Given the description of an element on the screen output the (x, y) to click on. 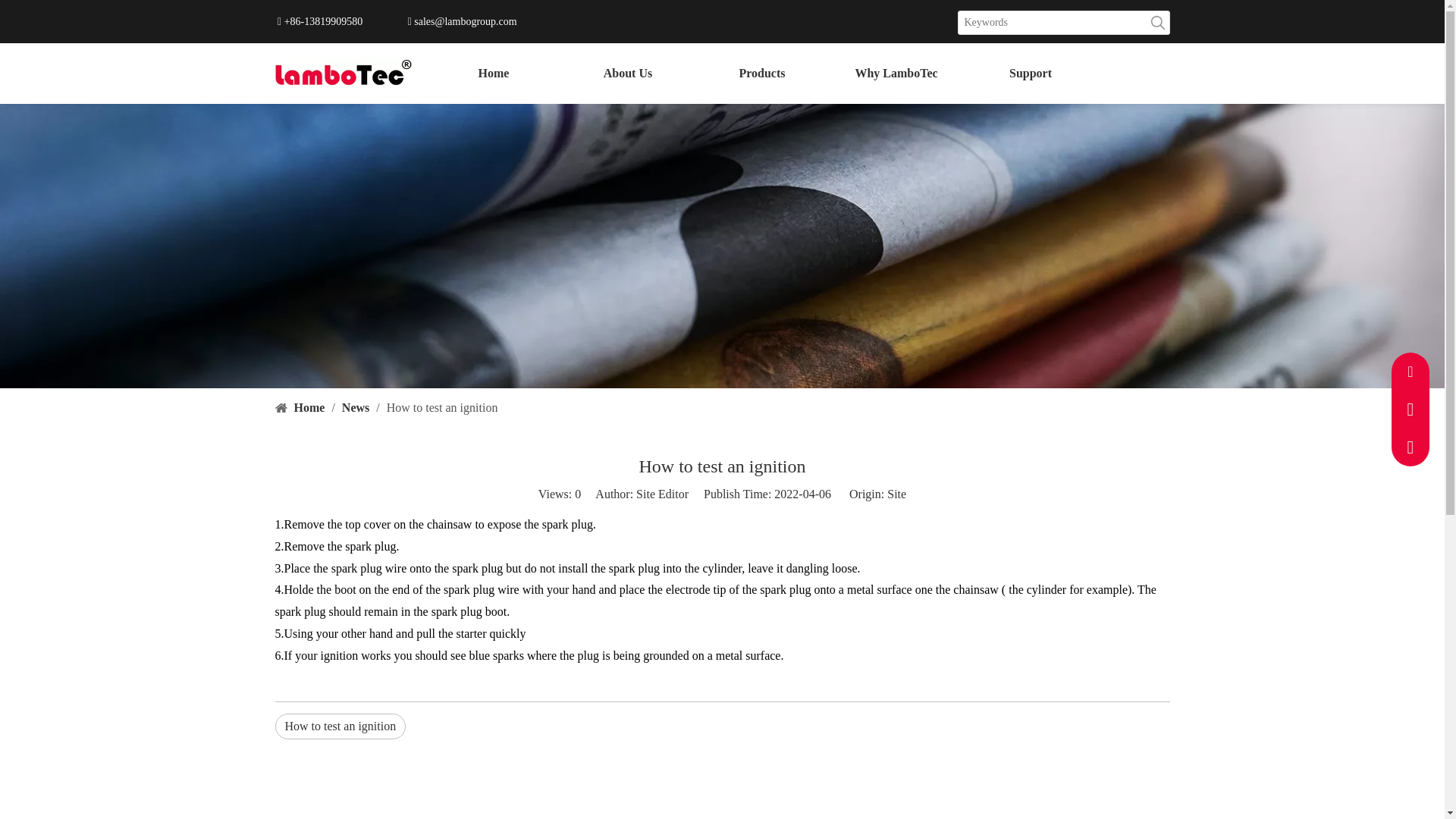
Home (493, 73)
How to test an ignition (340, 726)
Why LamboTec (896, 73)
About Us (627, 73)
Products (761, 73)
Support (1029, 73)
